Given the description of an element on the screen output the (x, y) to click on. 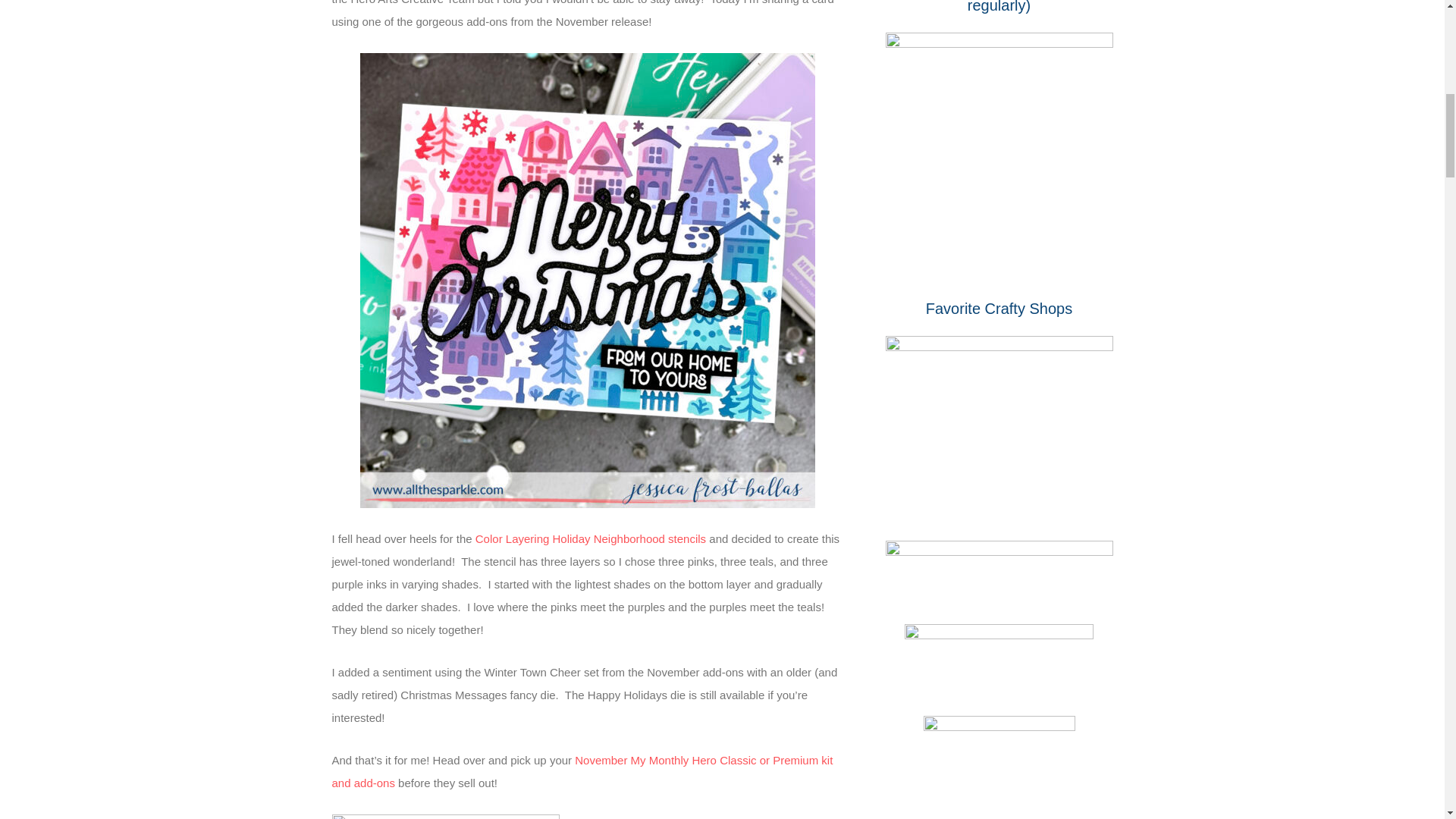
favorite crafty shops (999, 420)
November My Monthly Hero Classic or Premium kit and add-ons (581, 771)
Color Layering Holiday Neighborhood stencils (591, 538)
